Given the description of an element on the screen output the (x, y) to click on. 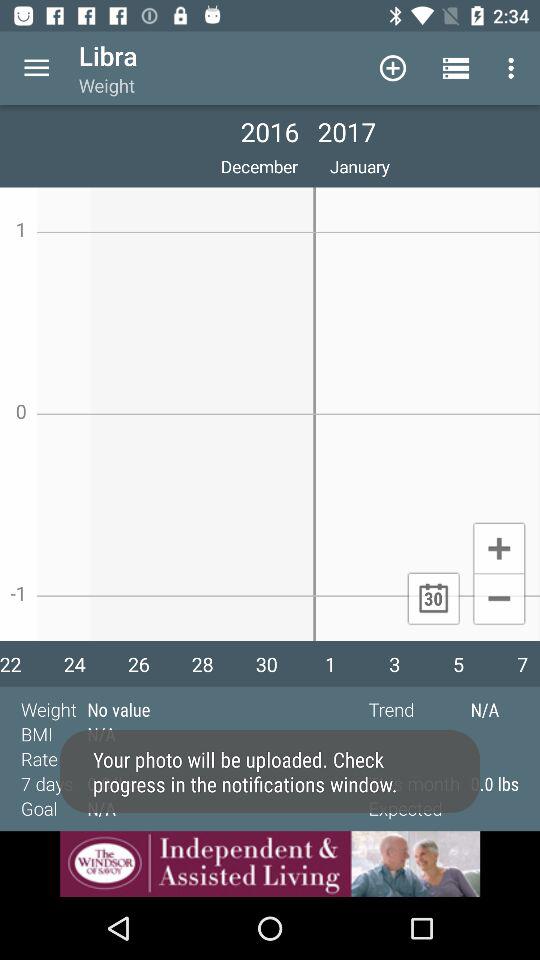
minimize button (498, 599)
